Given the description of an element on the screen output the (x, y) to click on. 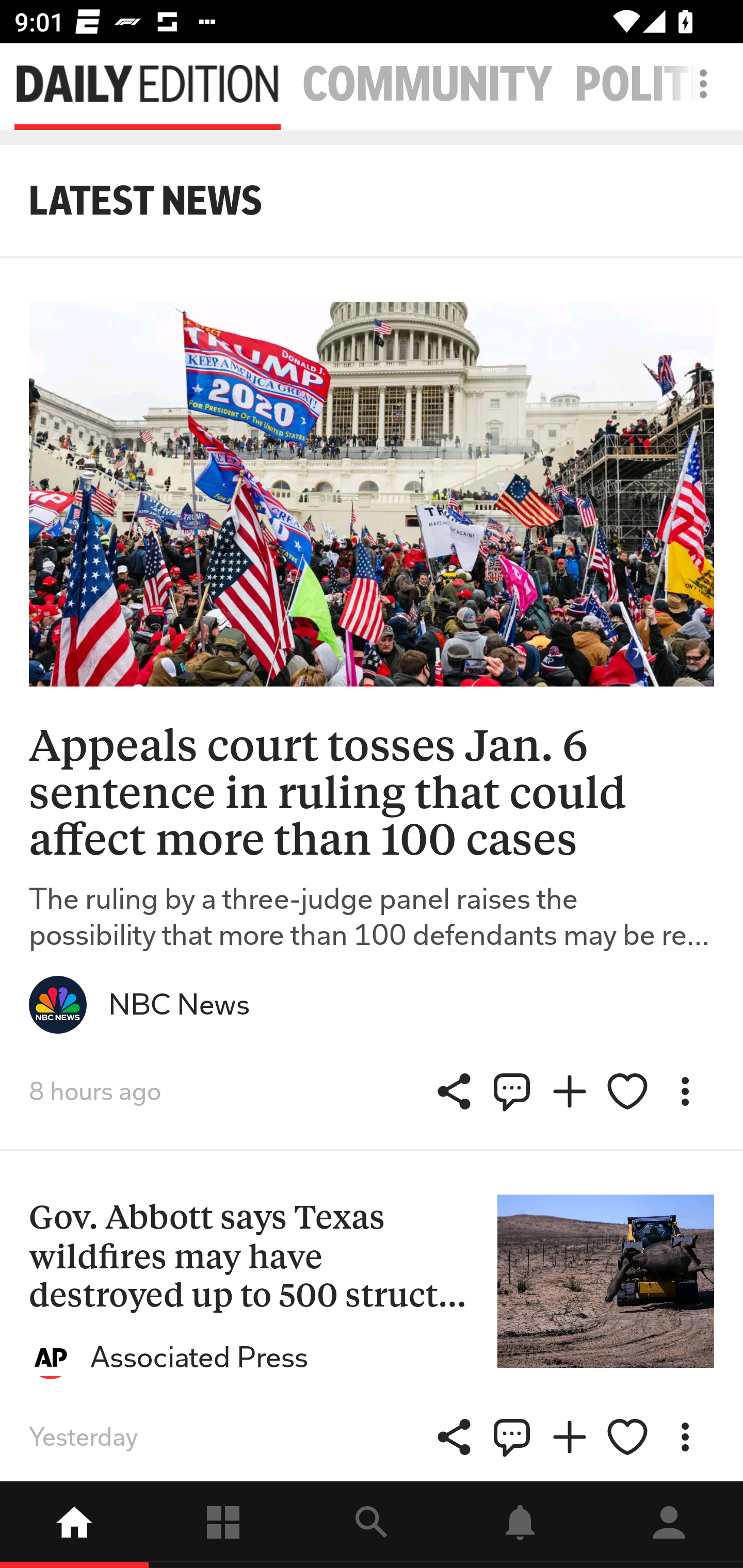
COMMUNITY (427, 84)
Edit Home (697, 83)
Share (453, 1091)
Share (511, 1091)
Flip into Magazine (569, 1091)
Like (627, 1091)
Options (685, 1091)
Share (453, 1437)
Share (511, 1437)
Flip into Magazine (569, 1437)
Like (627, 1437)
Options (685, 1437)
home (74, 1524)
Following (222, 1524)
explore (371, 1524)
Notifications (519, 1524)
Profile (668, 1524)
